Given the description of an element on the screen output the (x, y) to click on. 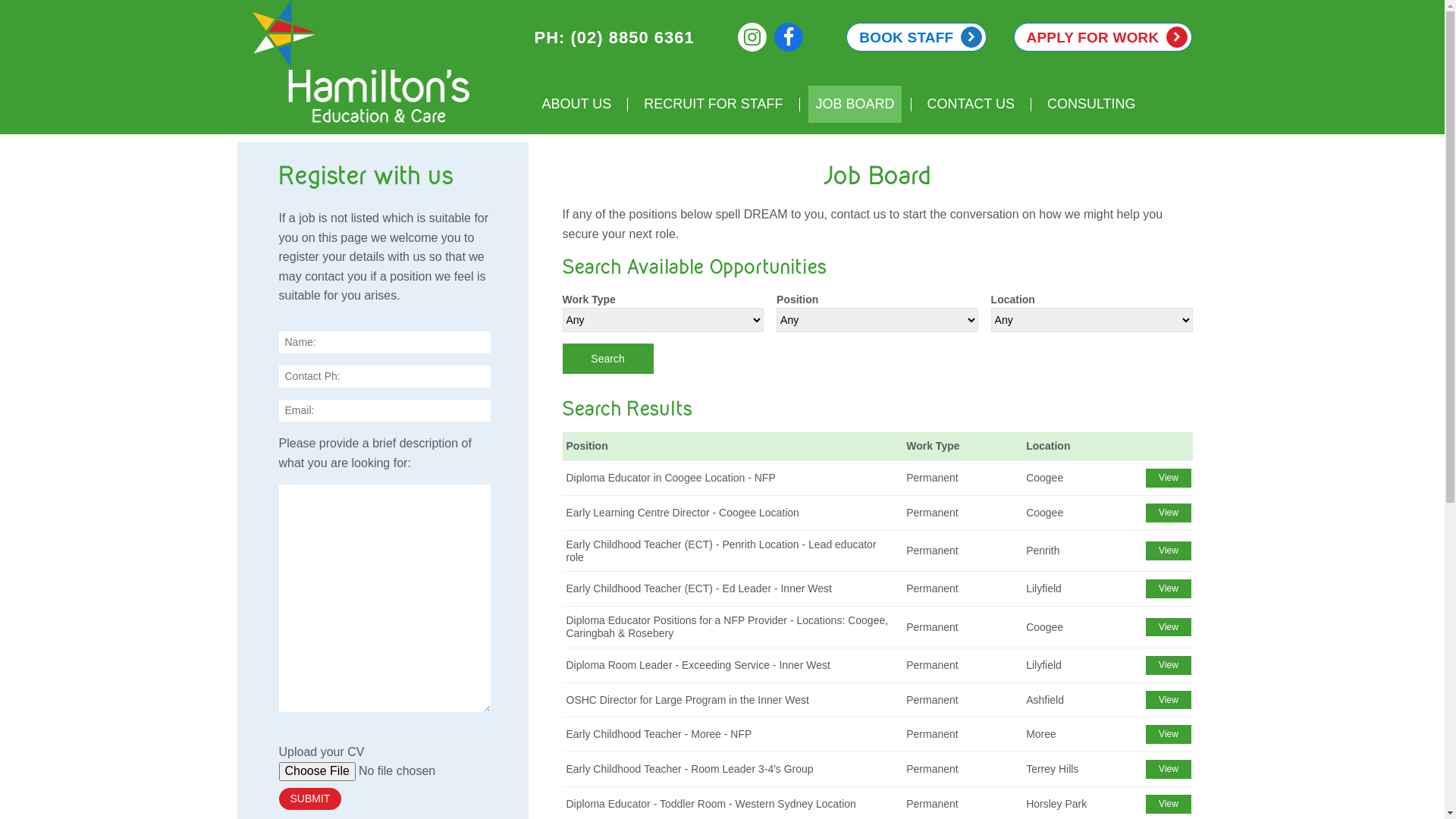
View Element type: text (1168, 733)
RECRUIT FOR STAFF Element type: text (712, 103)
APPLY FOR WORK Element type: text (1102, 36)
JOB BOARD Element type: text (854, 103)
View Element type: text (1168, 477)
View Element type: text (1168, 588)
View Element type: text (1168, 664)
CONTACT US Element type: text (970, 103)
View Element type: text (1168, 627)
CONSULTING Element type: text (1090, 103)
View Element type: text (1168, 550)
ABOUT US Element type: text (575, 103)
View Element type: text (1168, 699)
Submit Element type: text (310, 798)
View Element type: text (1168, 803)
BOOK STAFF Element type: text (916, 36)
View Element type: text (1168, 512)
View Element type: text (1168, 768)
